Given the description of an element on the screen output the (x, y) to click on. 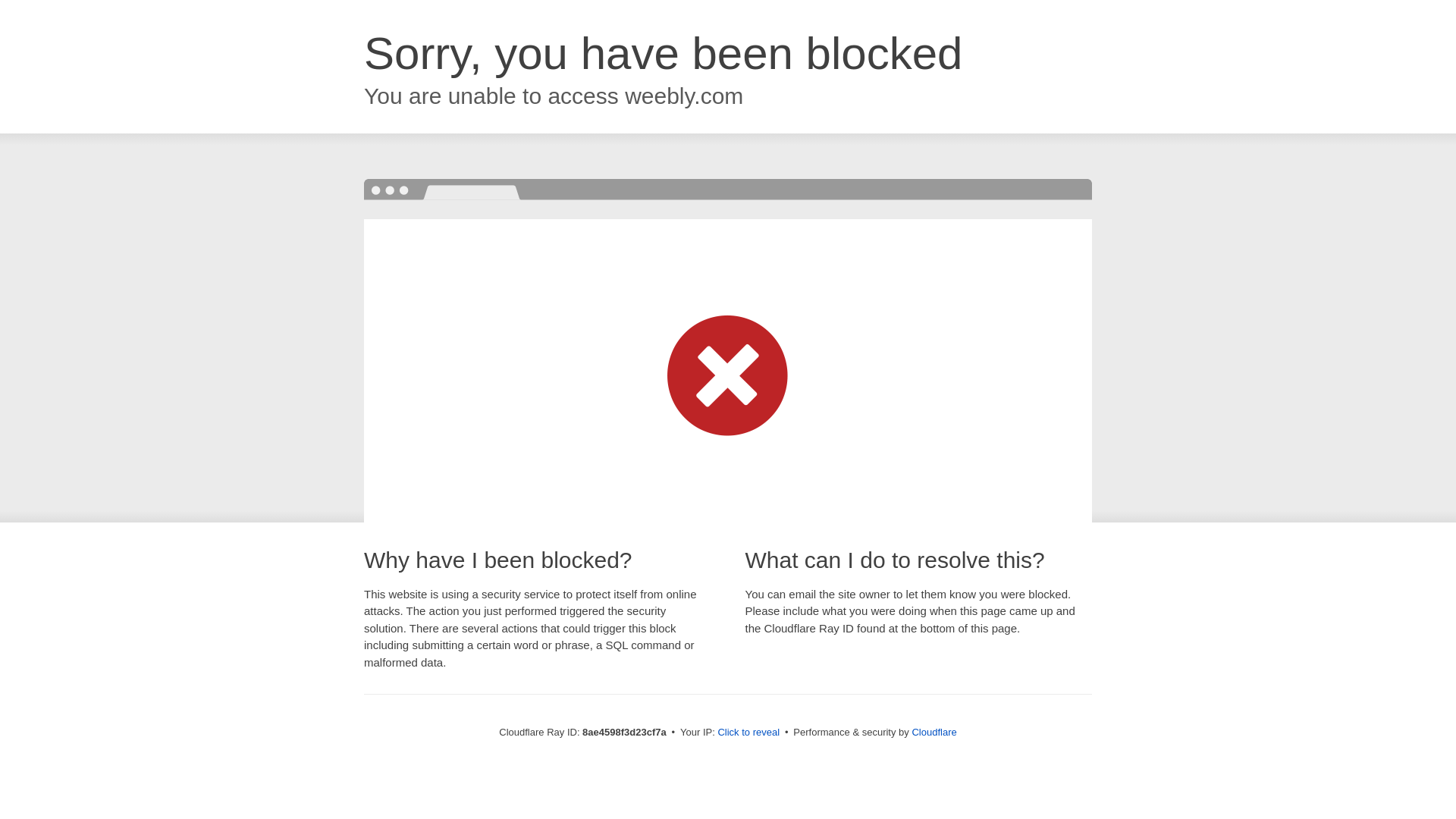
Click to reveal (747, 732)
Cloudflare (933, 731)
